Given the description of an element on the screen output the (x, y) to click on. 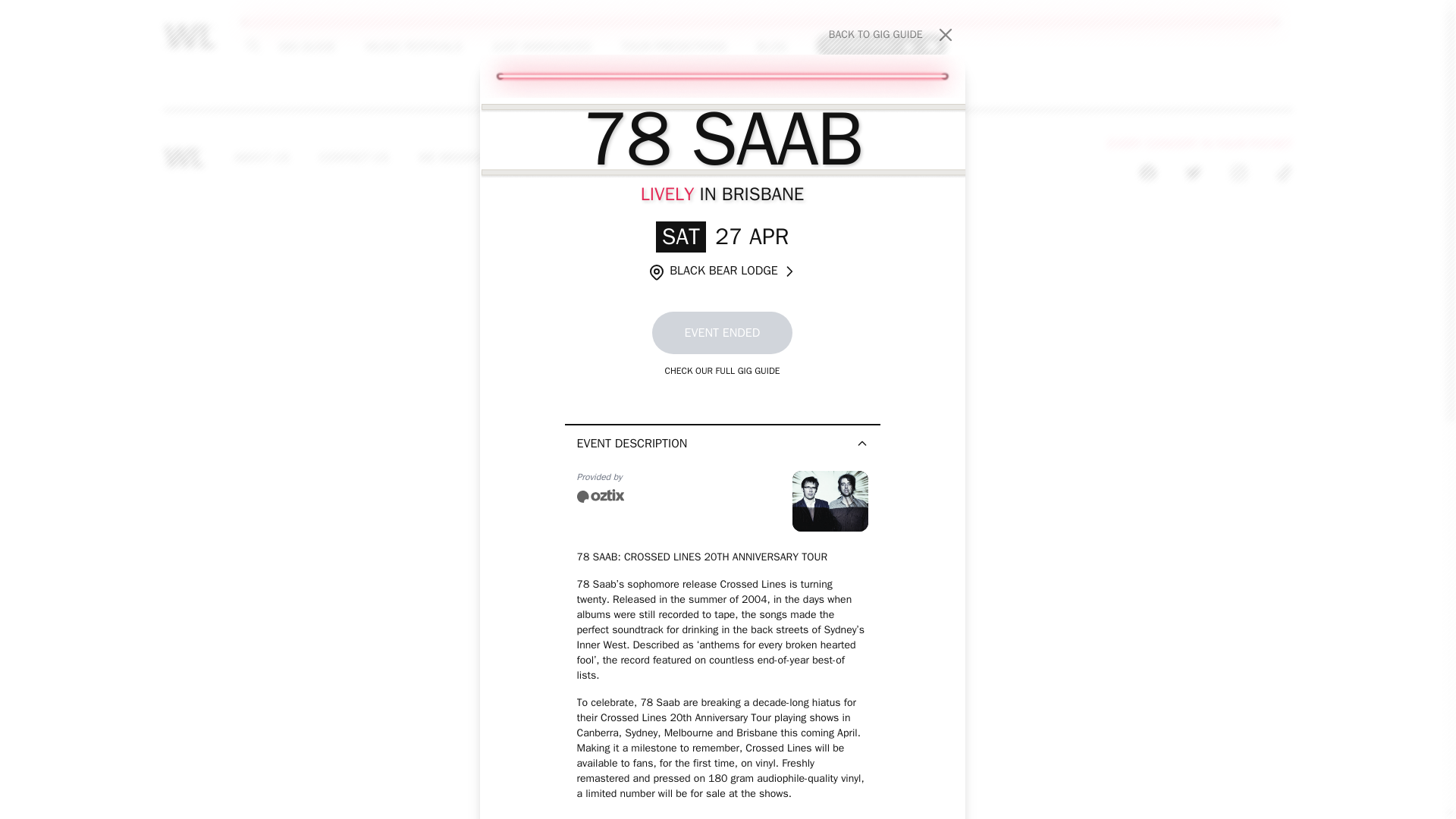
TOUR PREDICTIONS (673, 45)
GET APP NOW (881, 44)
GIG GUIDE (306, 45)
WE MISSING A GIG? (892, 34)
MUSIC FESTIVALS (472, 157)
ABOUT US (413, 45)
JUST ANNOUNCED (261, 157)
MARKETING AGENCY (541, 45)
BLOG (768, 157)
